Given the description of an element on the screen output the (x, y) to click on. 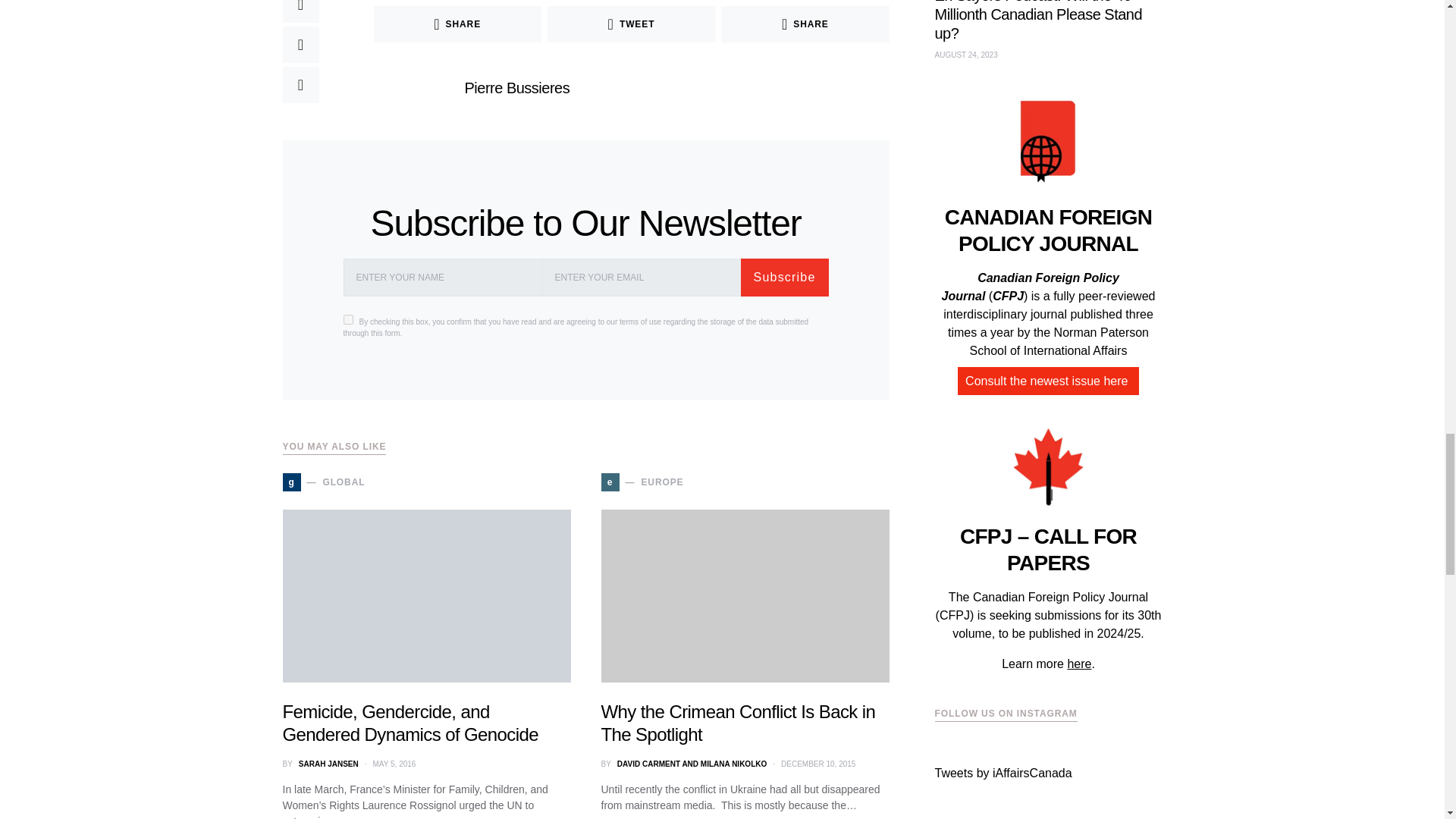
View all posts by David Carment and Milana Nikolko (692, 763)
View all posts by Sarah Jansen (328, 763)
on (347, 318)
